Given the description of an element on the screen output the (x, y) to click on. 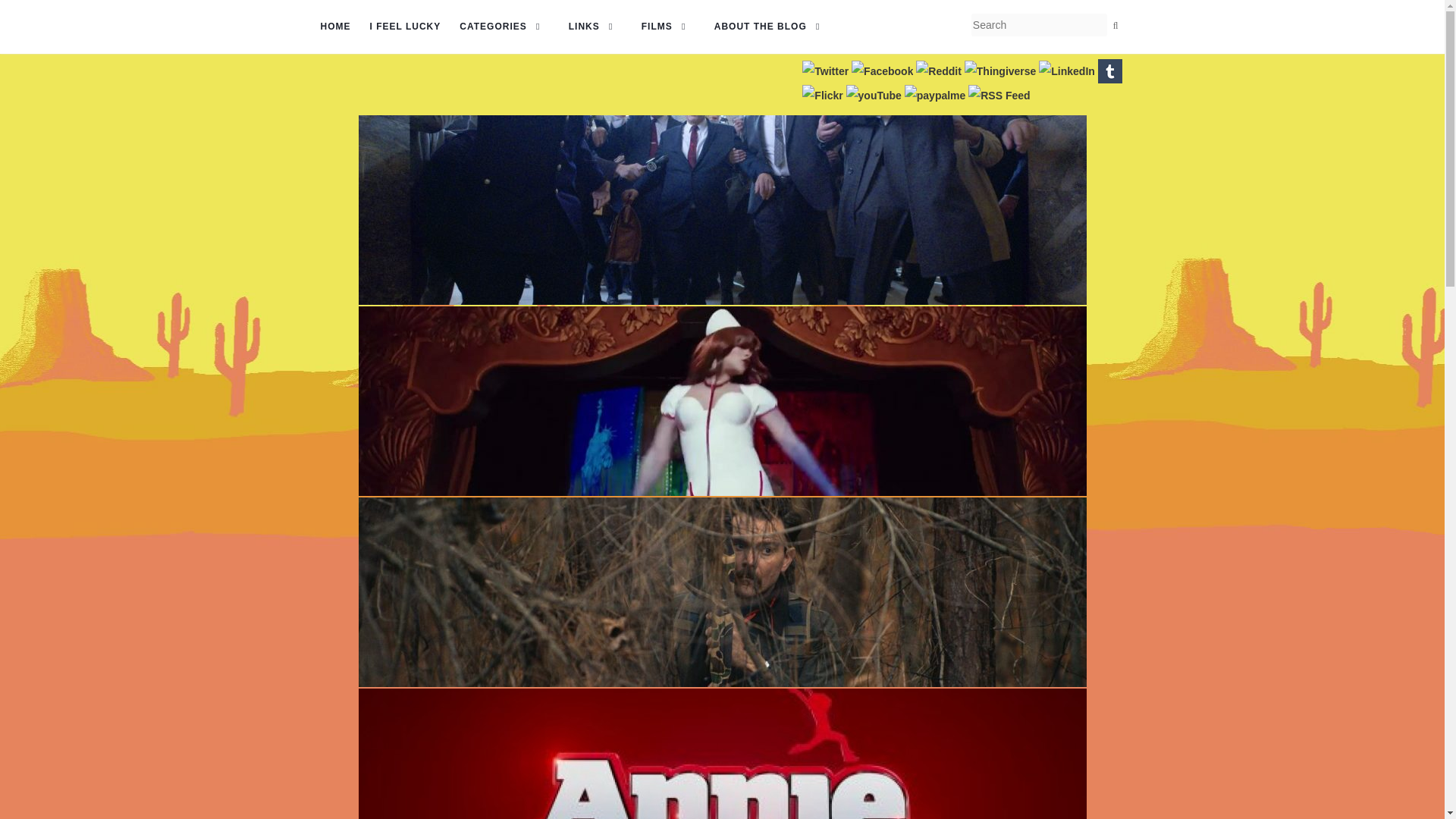
ABOUT THE BLOG (771, 27)
LINKS (596, 27)
Categories (504, 27)
FILMS (668, 27)
CATEGORIES (504, 27)
I feel lucky (405, 27)
I FEEL LUCKY (405, 27)
